Given the description of an element on the screen output the (x, y) to click on. 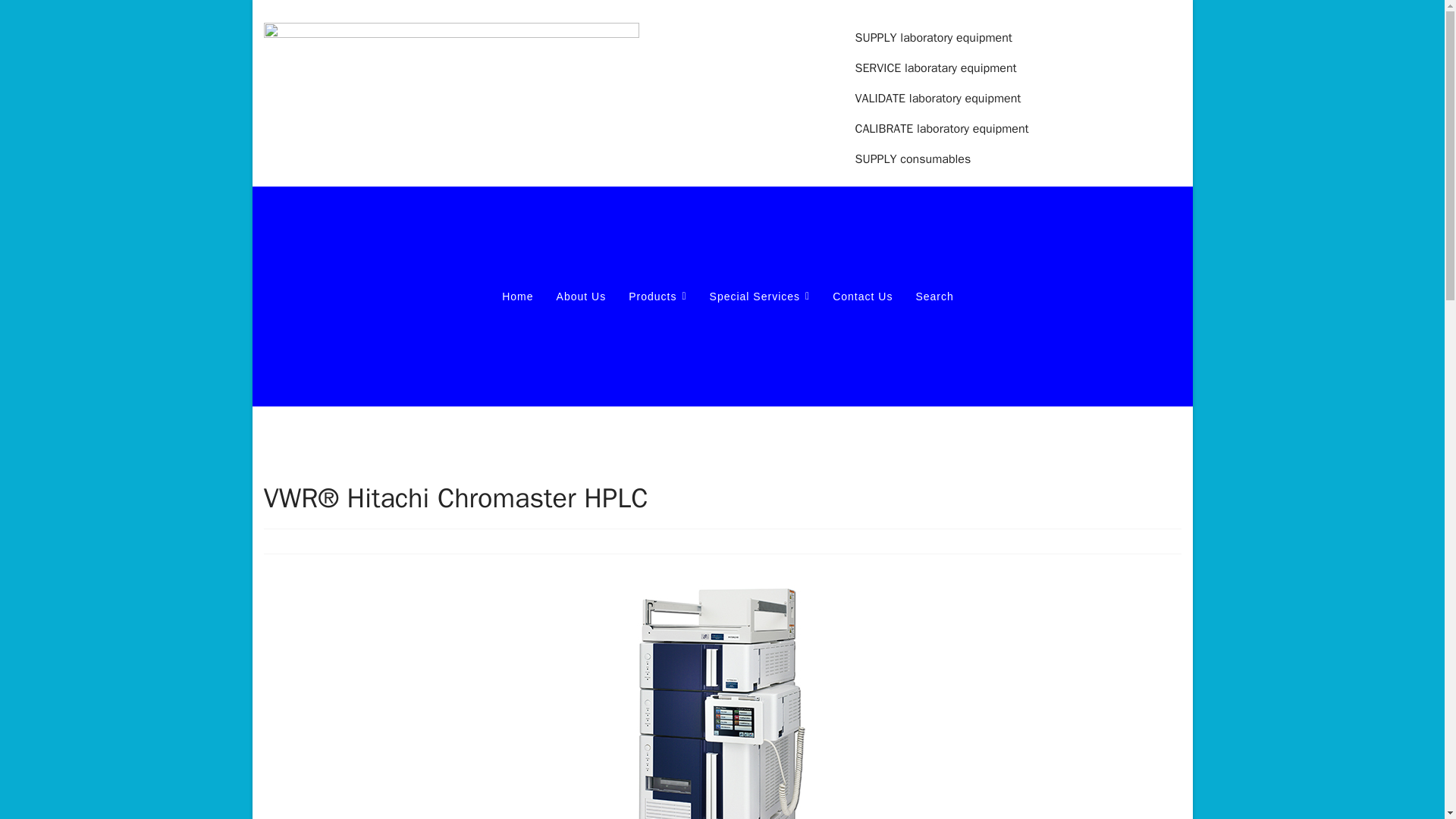
Home (517, 296)
About Us (580, 296)
Products (657, 296)
